Given the description of an element on the screen output the (x, y) to click on. 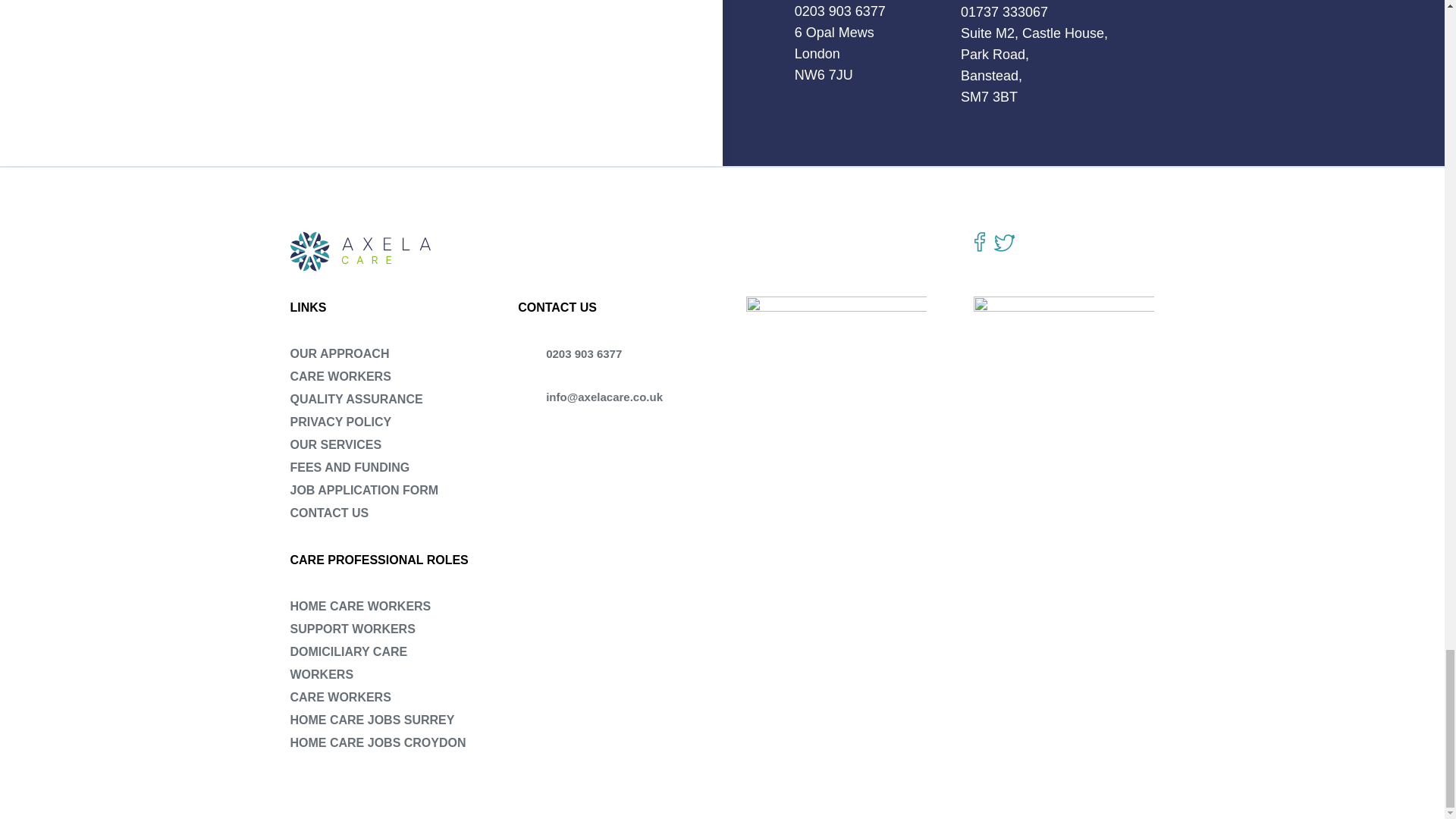
logo3 (1064, 376)
Axela Logo svg (361, 251)
OUR APPROACH (338, 353)
twitter (1004, 242)
0203 903 6377 (839, 11)
CARE WORKERS (339, 376)
01737 333067 (1004, 11)
QUALITY ASSURANCE (355, 399)
iso-9000 (835, 341)
